Given the description of an element on the screen output the (x, y) to click on. 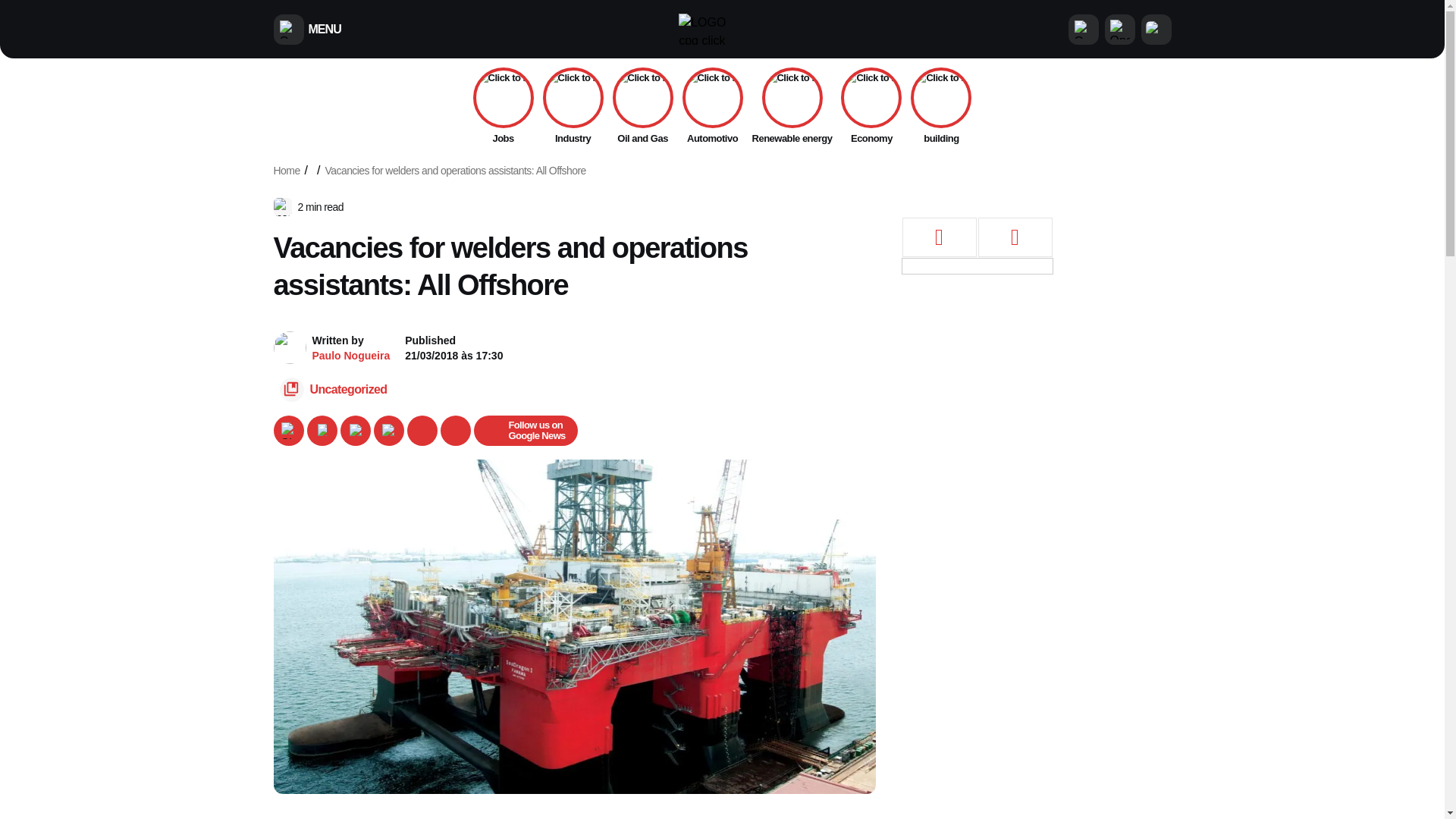
Most commented posts (938, 237)
Recent comments (1014, 237)
